Given the description of an element on the screen output the (x, y) to click on. 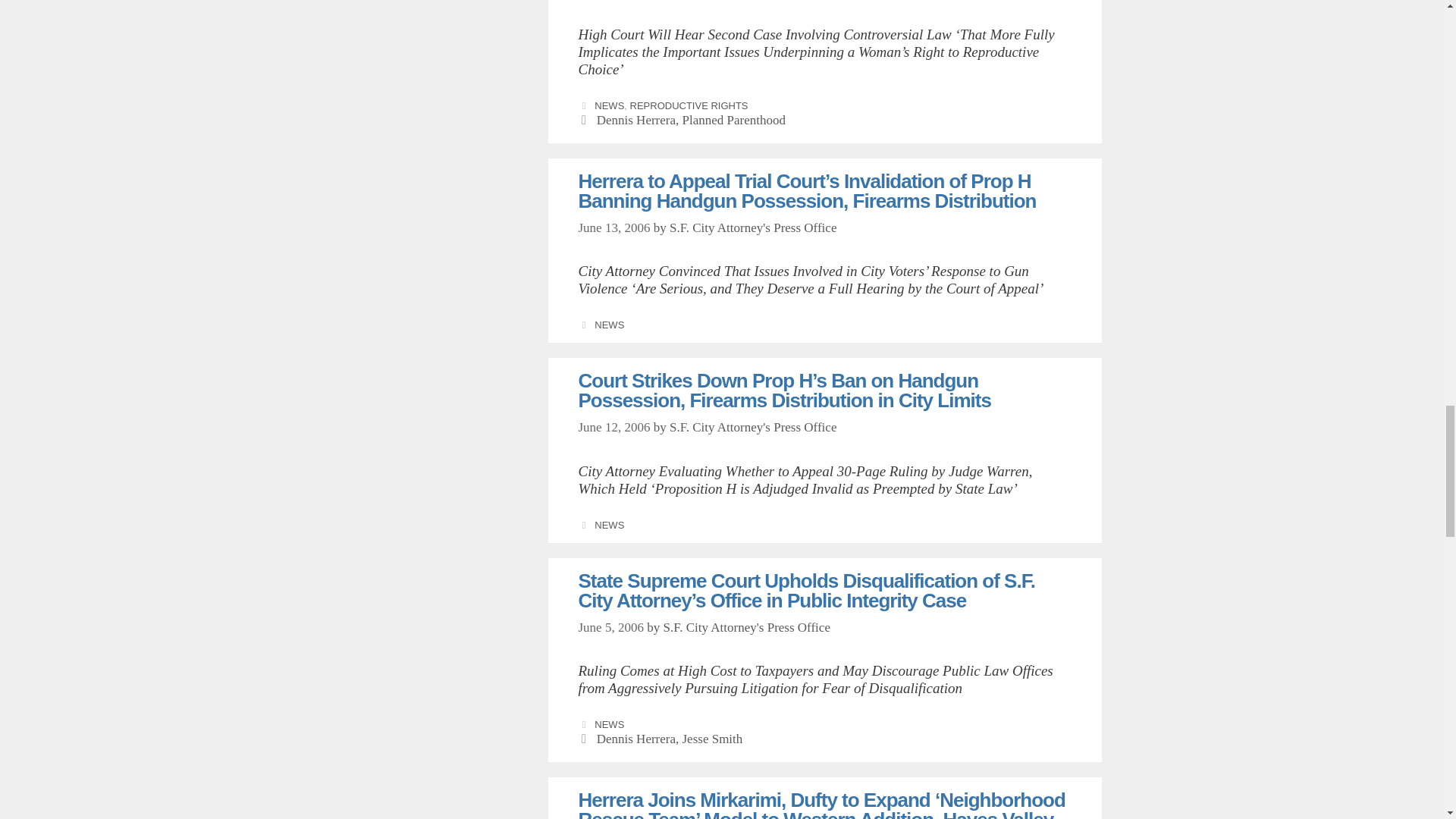
View all posts by S.F. City Attorney's Press Office (745, 626)
View all posts by S.F. City Attorney's Press Office (753, 227)
View all posts by S.F. City Attorney's Press Office (753, 427)
